Given the description of an element on the screen output the (x, y) to click on. 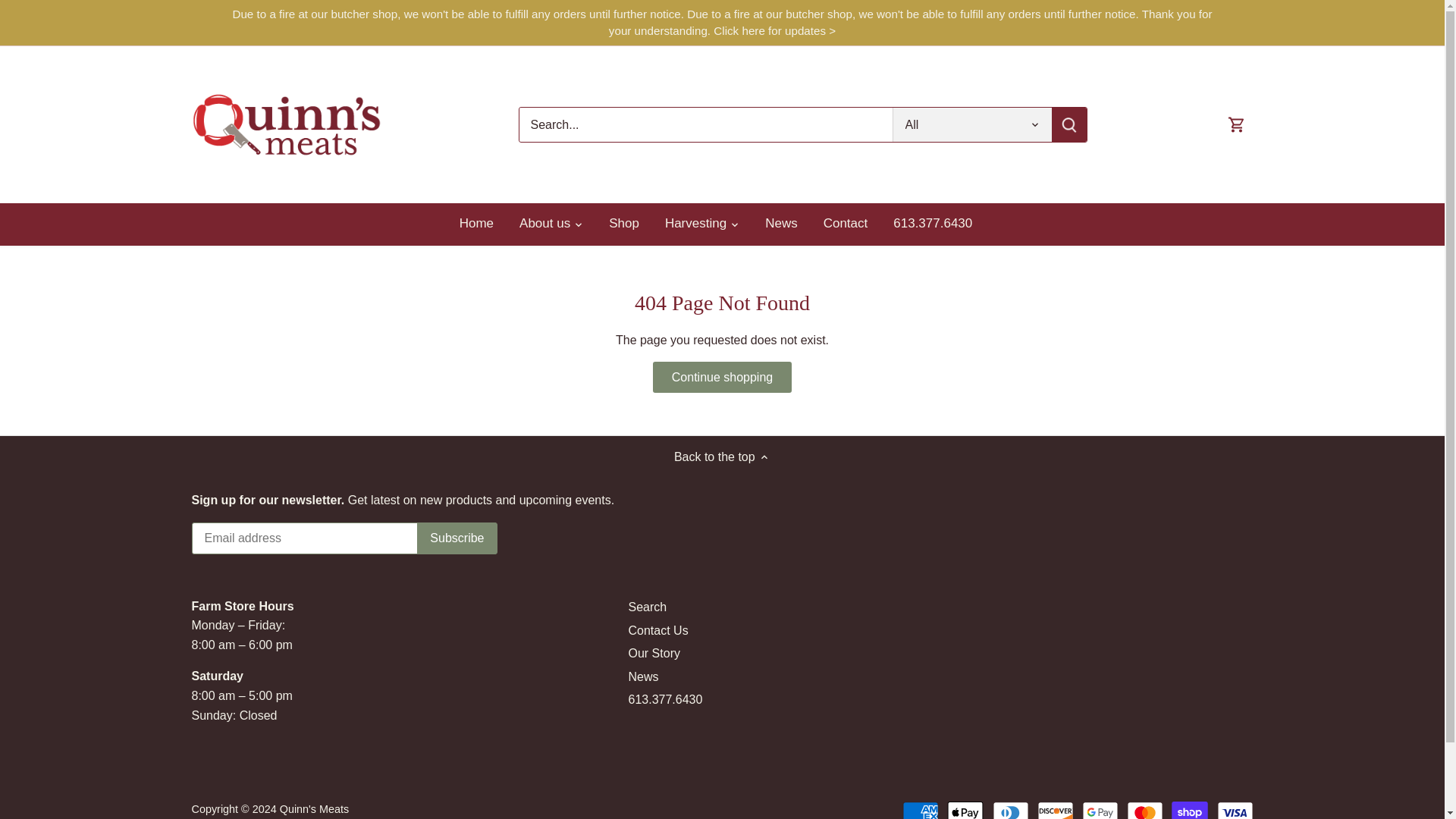
Continue shopping (721, 377)
Diners Club (1010, 810)
Contact Us (657, 631)
Mastercard (1144, 810)
Shop (623, 224)
About us (544, 224)
Apple Pay (965, 810)
Contact (845, 224)
News (642, 676)
News (781, 224)
Subscribe (456, 538)
613.377.6430 (932, 224)
Subscribe (456, 538)
Back to the top (722, 456)
Our Story (653, 653)
